Given the description of an element on the screen output the (x, y) to click on. 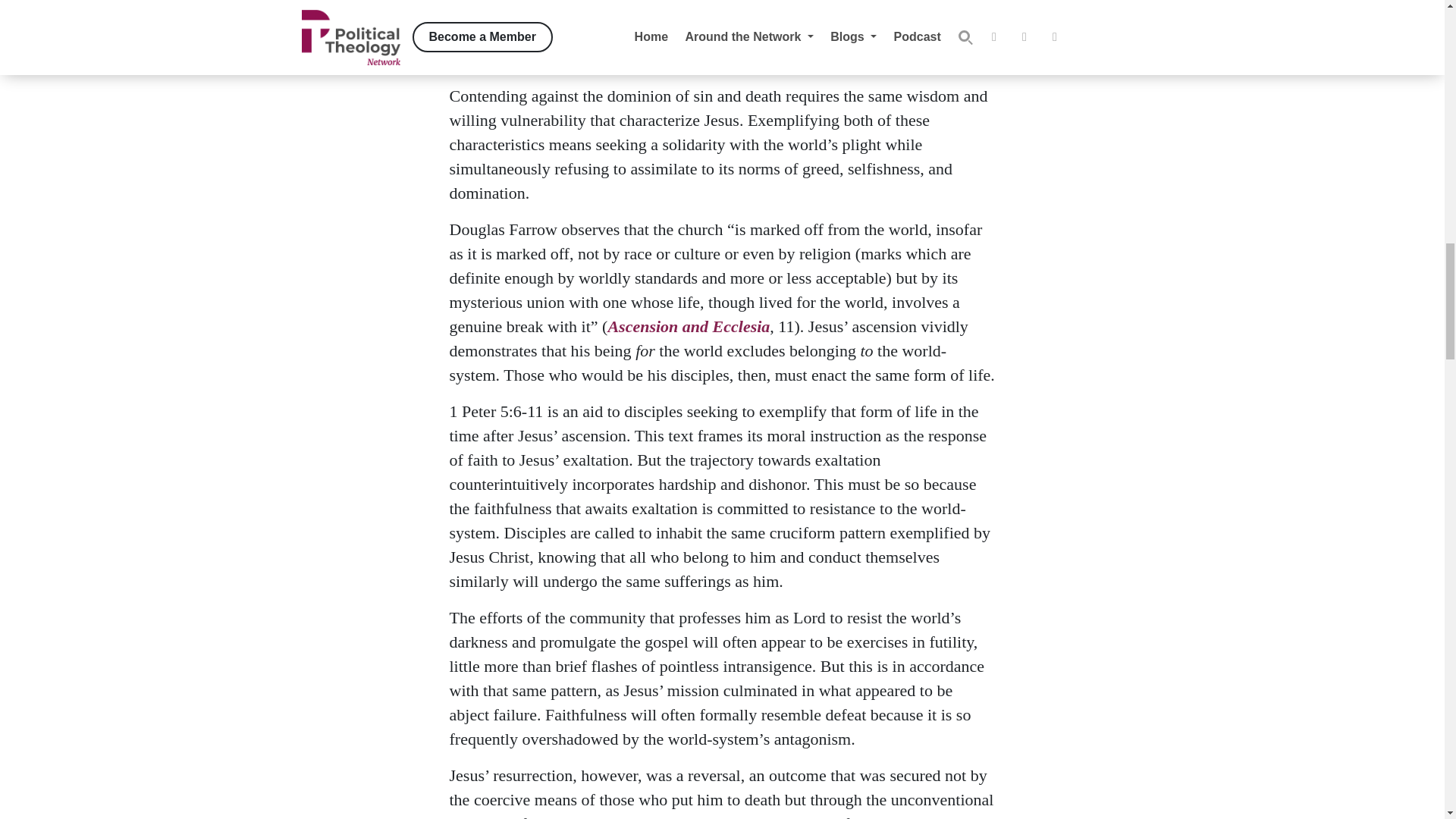
Ascension and Ecclesia (688, 325)
